Given the description of an element on the screen output the (x, y) to click on. 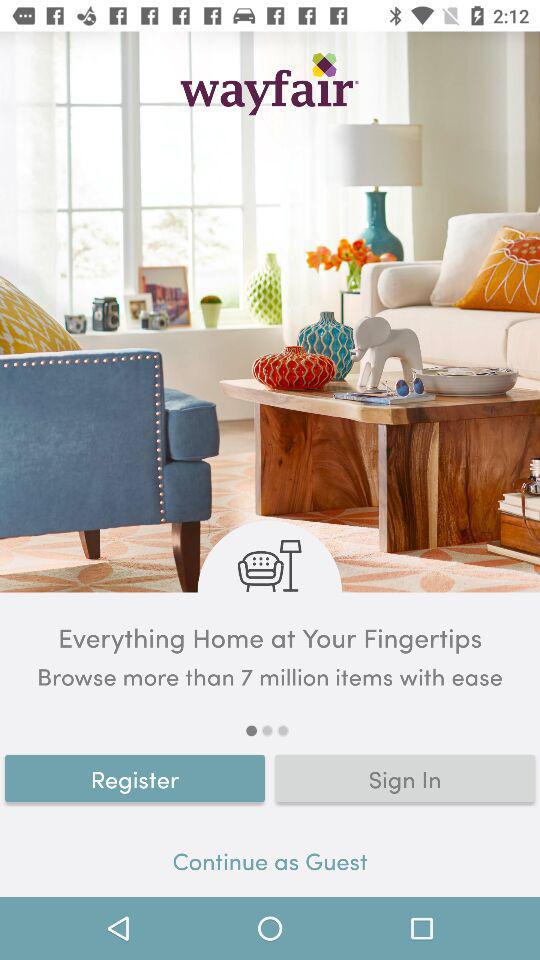
open icon below the register icon (270, 863)
